Given the description of an element on the screen output the (x, y) to click on. 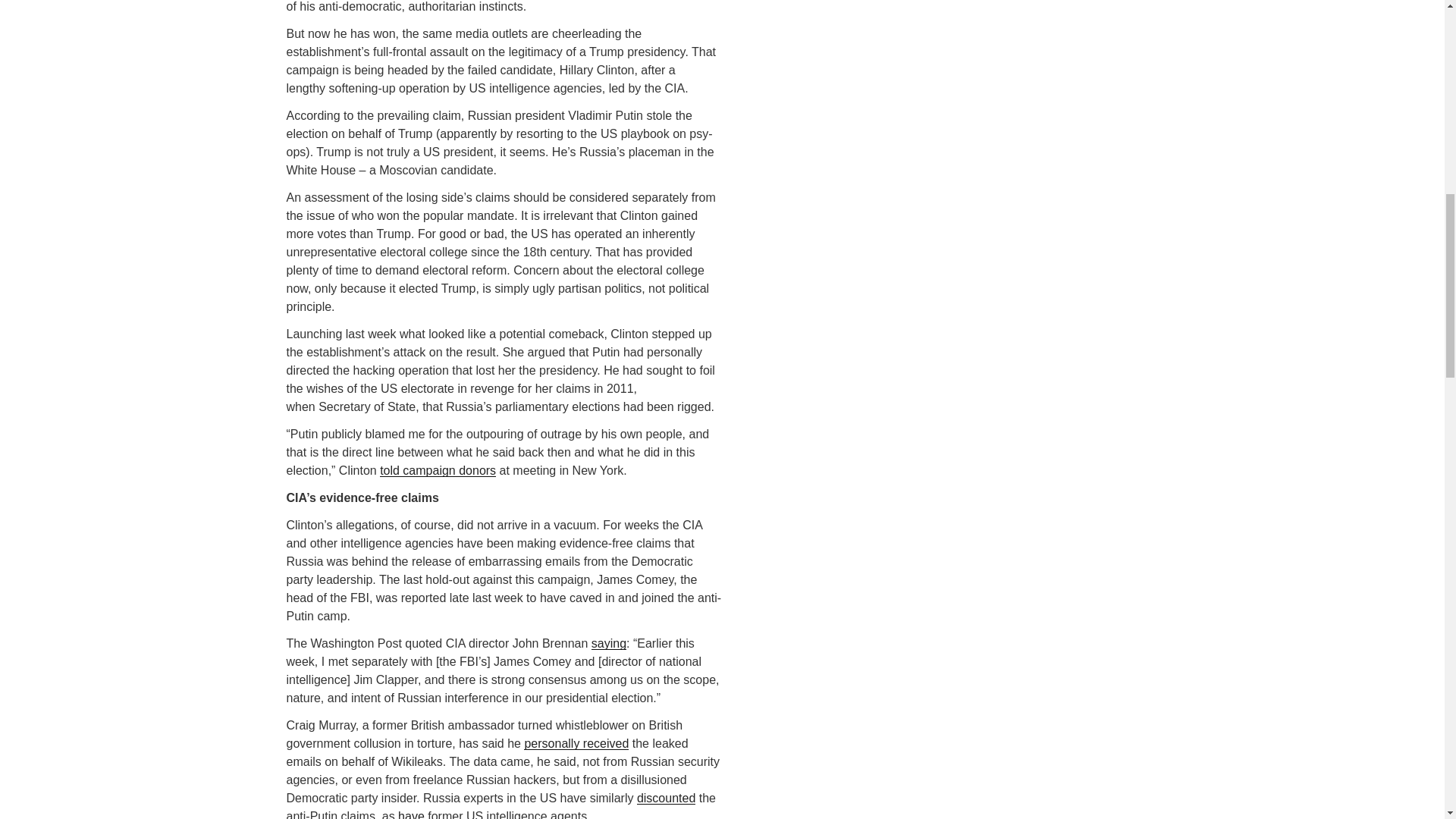
saying (608, 643)
personally received (576, 743)
discounted (666, 797)
told campaign donors (438, 470)
